Given the description of an element on the screen output the (x, y) to click on. 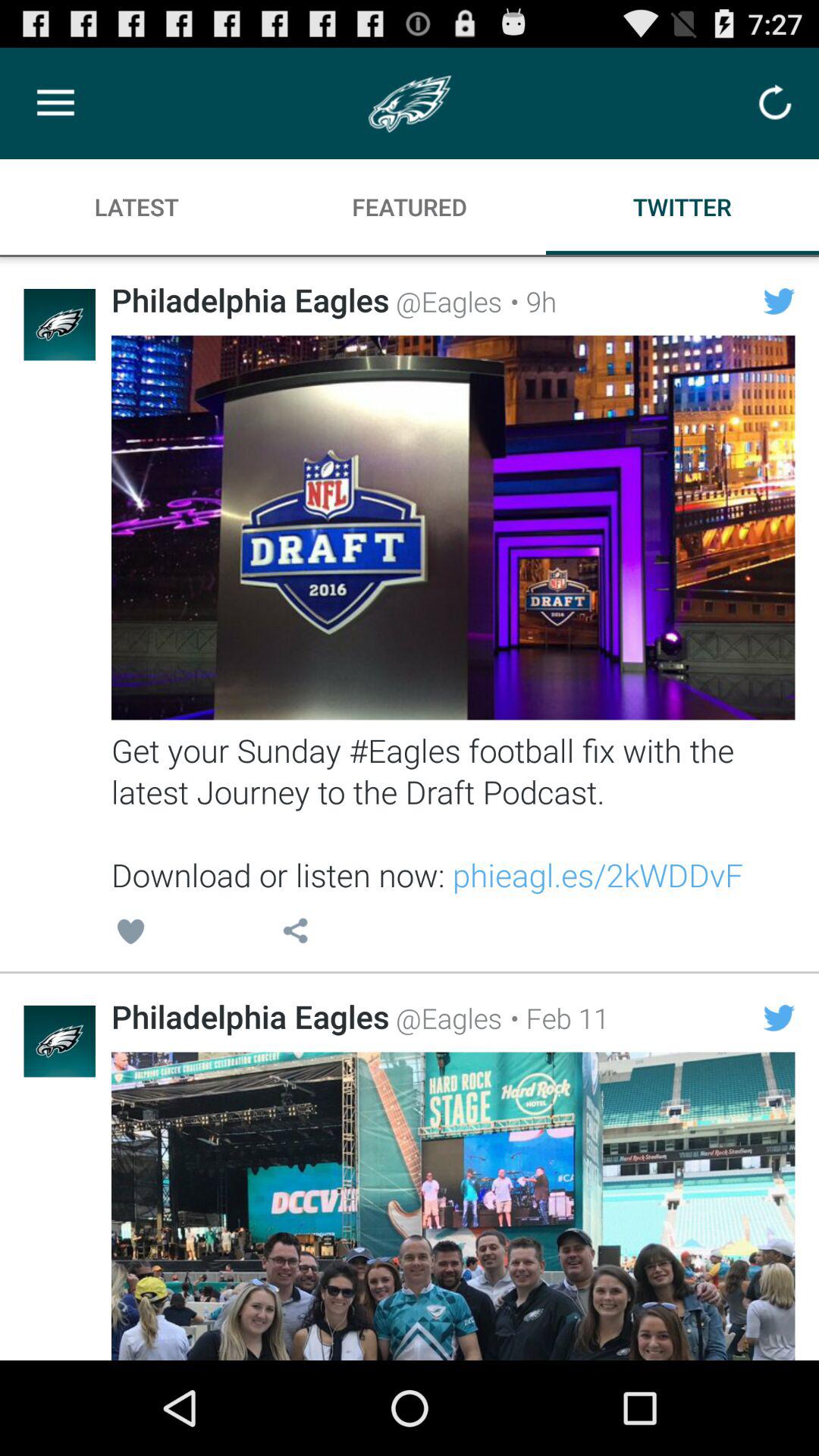
open picture in bigger view (453, 1206)
